Given the description of an element on the screen output the (x, y) to click on. 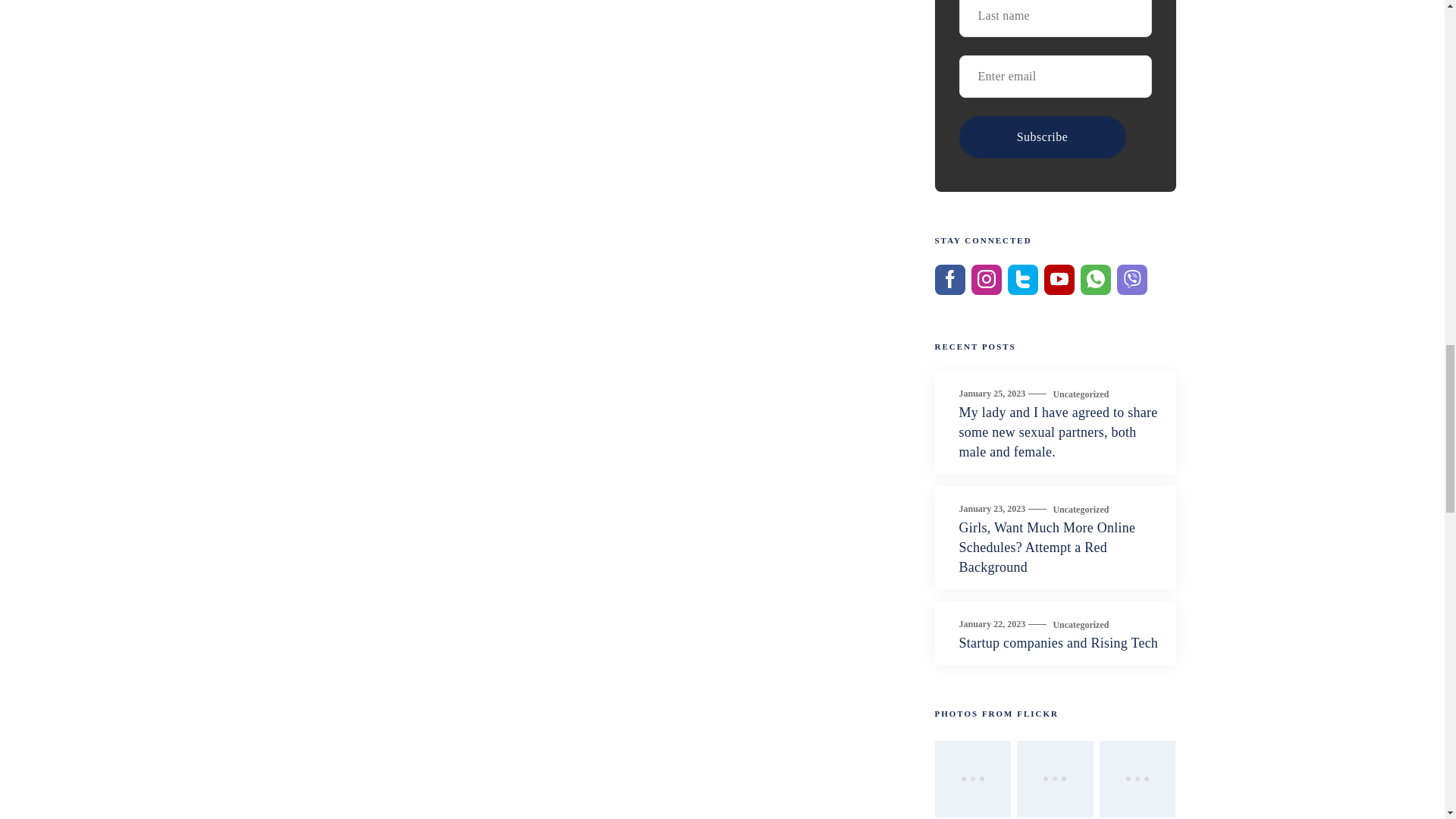
Subscribe (1041, 137)
facebook (948, 279)
instagram (986, 279)
twitter (1021, 279)
